Given the description of an element on the screen output the (x, y) to click on. 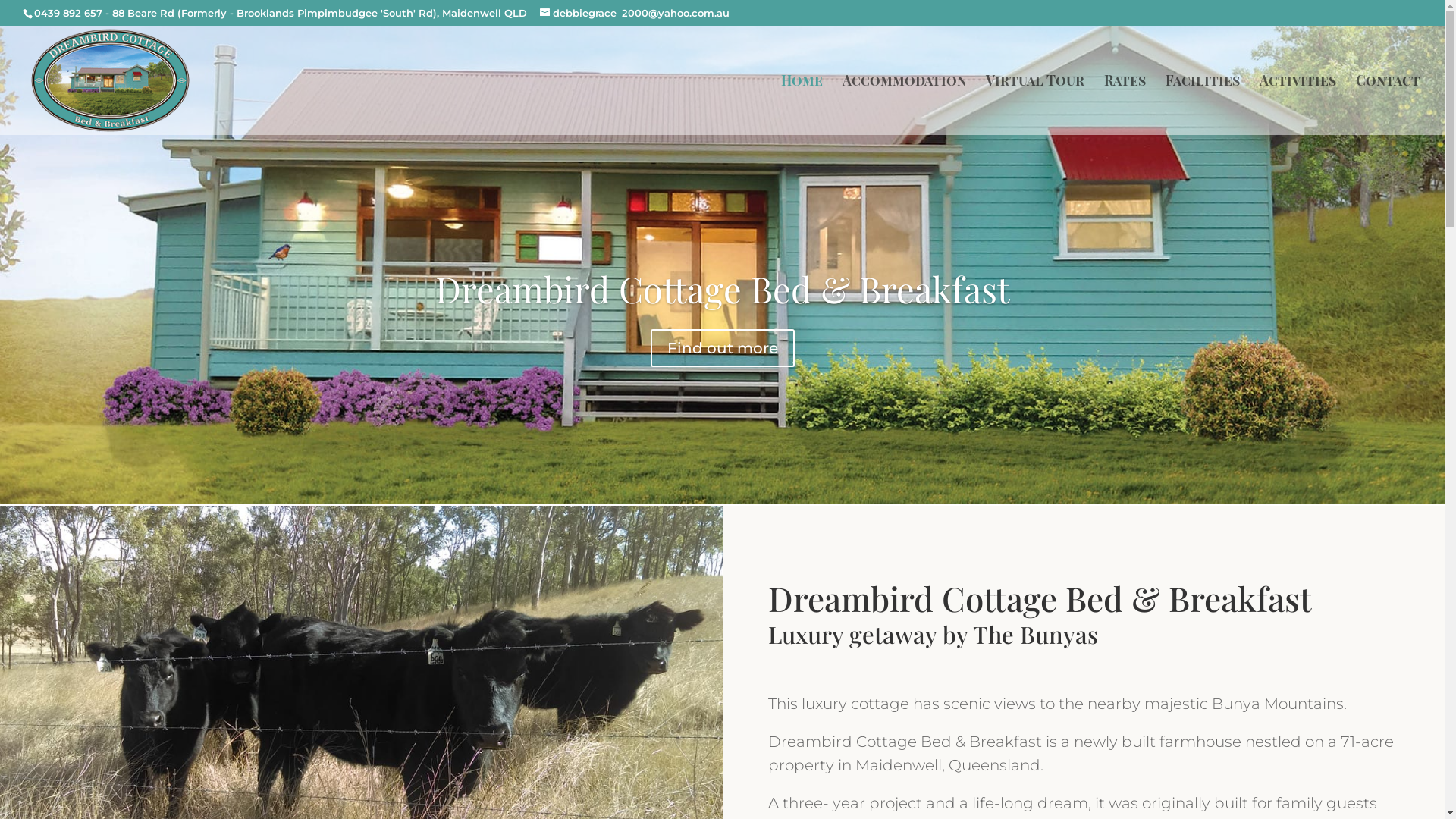
Facilities Element type: text (1202, 104)
Find out more Element type: text (722, 348)
Accommodation Element type: text (904, 104)
debbiegrace_2000@yahoo.com.au Element type: text (634, 12)
0439 892 657 Element type: text (68, 12)
Rates Element type: text (1124, 104)
Home Element type: text (801, 104)
Dreambird Cottage Bed & Breakfast Element type: text (722, 288)
Activities Element type: text (1297, 104)
Contact Element type: text (1387, 104)
Virtual Tour Element type: text (1034, 104)
